Given the description of an element on the screen output the (x, y) to click on. 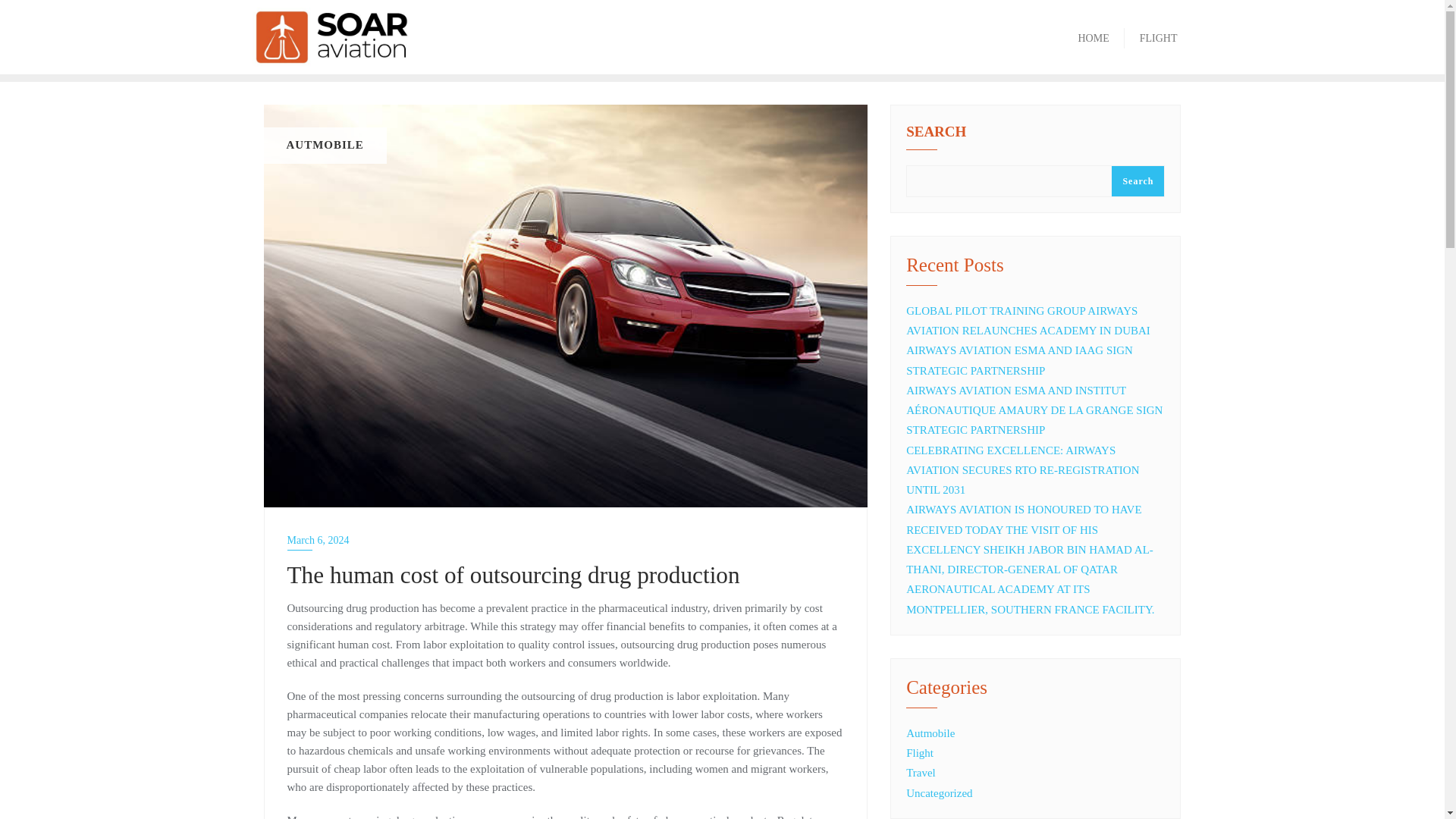
Flight (919, 752)
AIRWAYS AVIATION ESMA AND IAAG SIGN STRATEGIC PARTNERSHIP (1018, 359)
Autmobile (930, 733)
March 6, 2024 (565, 539)
Uncategorized (938, 793)
Travel (920, 772)
